Given the description of an element on the screen output the (x, y) to click on. 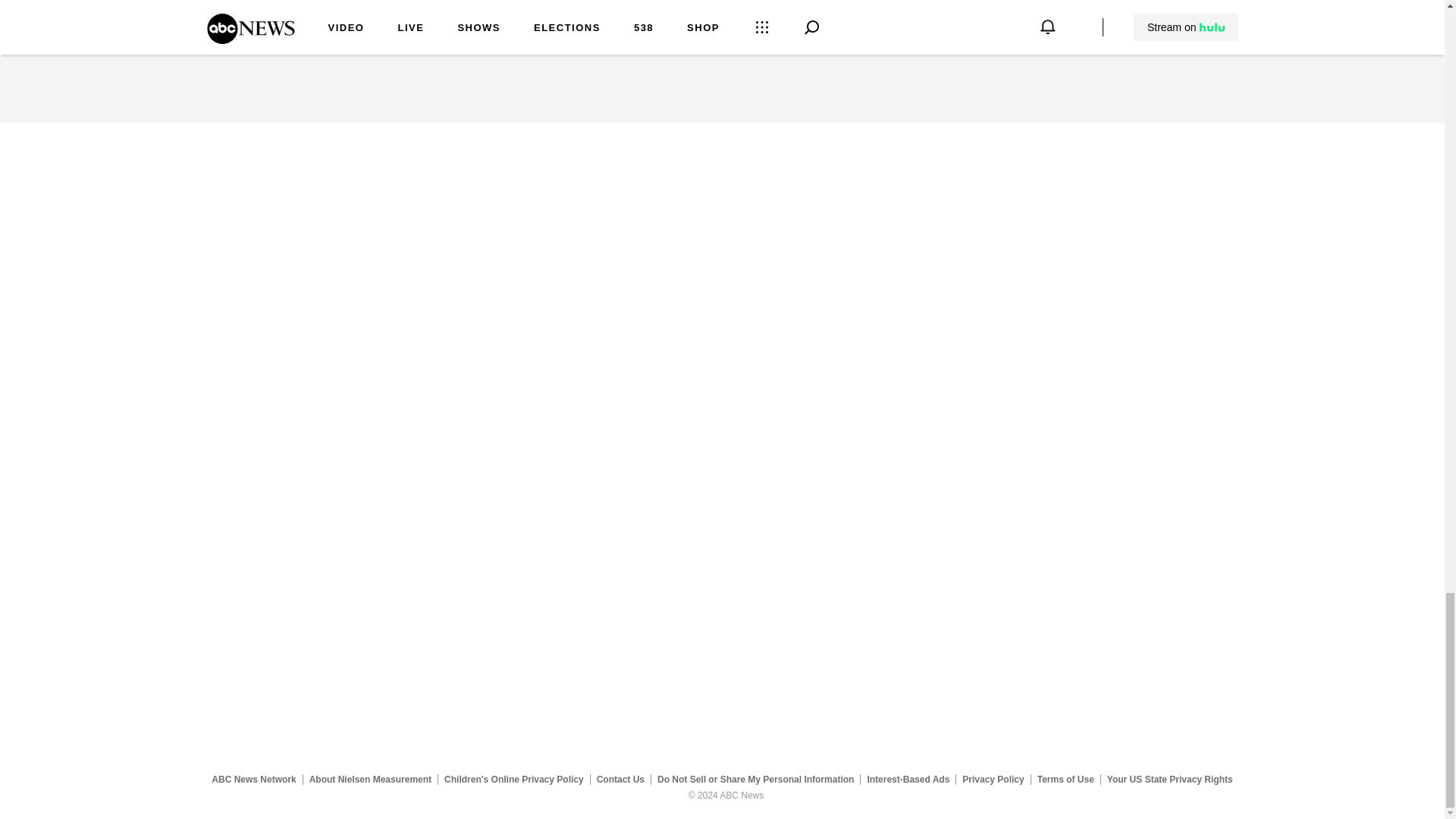
Do Not Sell or Share My Personal Information (755, 778)
Children's Online Privacy Policy (514, 778)
About Nielsen Measurement (370, 778)
Privacy Policy (993, 778)
Contact Us (620, 778)
Your US State Privacy Rights (1169, 778)
Interest-Based Ads (908, 778)
ABC News Network (253, 778)
Terms of Use (1065, 778)
